Given the description of an element on the screen output the (x, y) to click on. 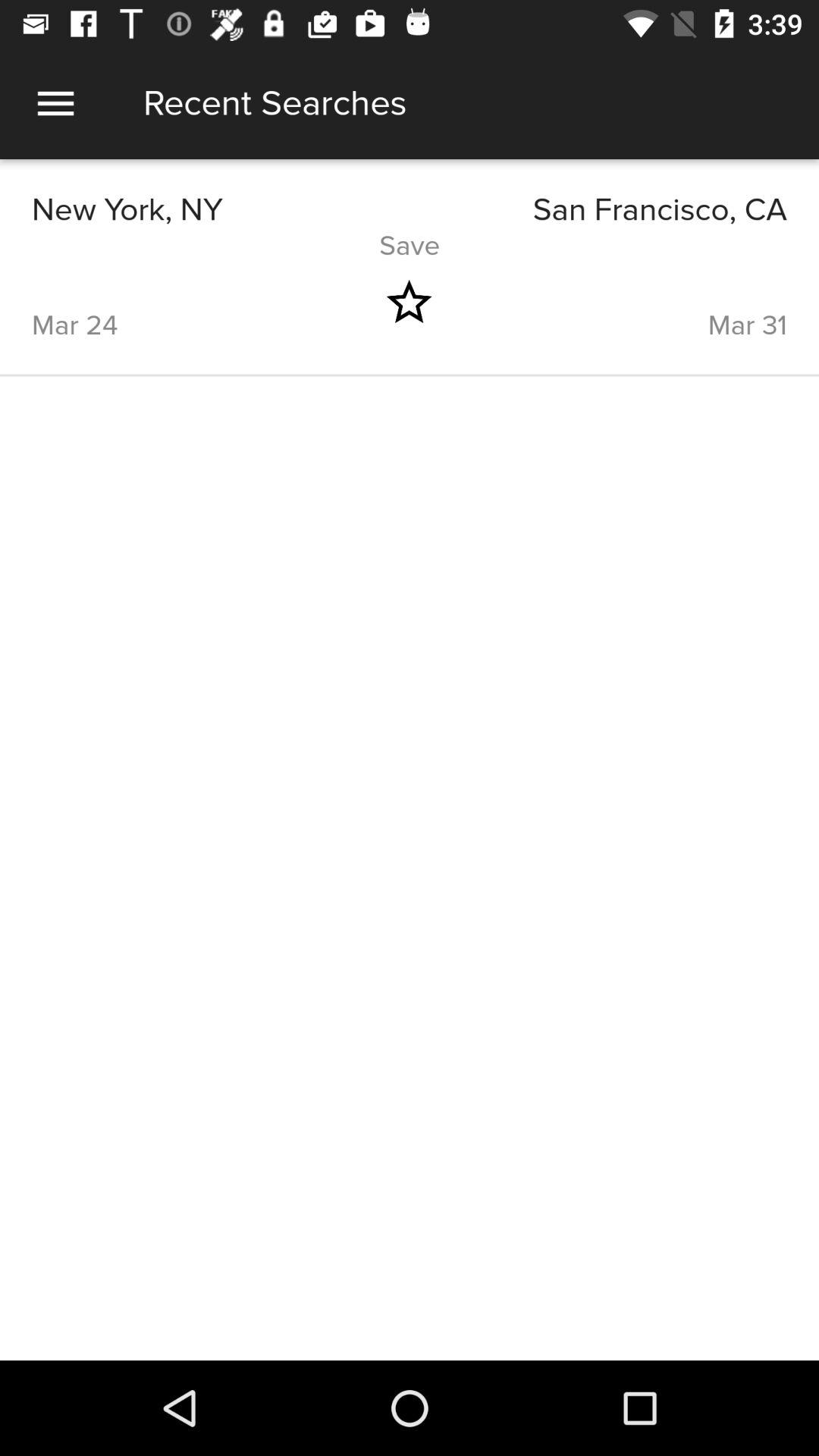
settings menu (55, 103)
